Given the description of an element on the screen output the (x, y) to click on. 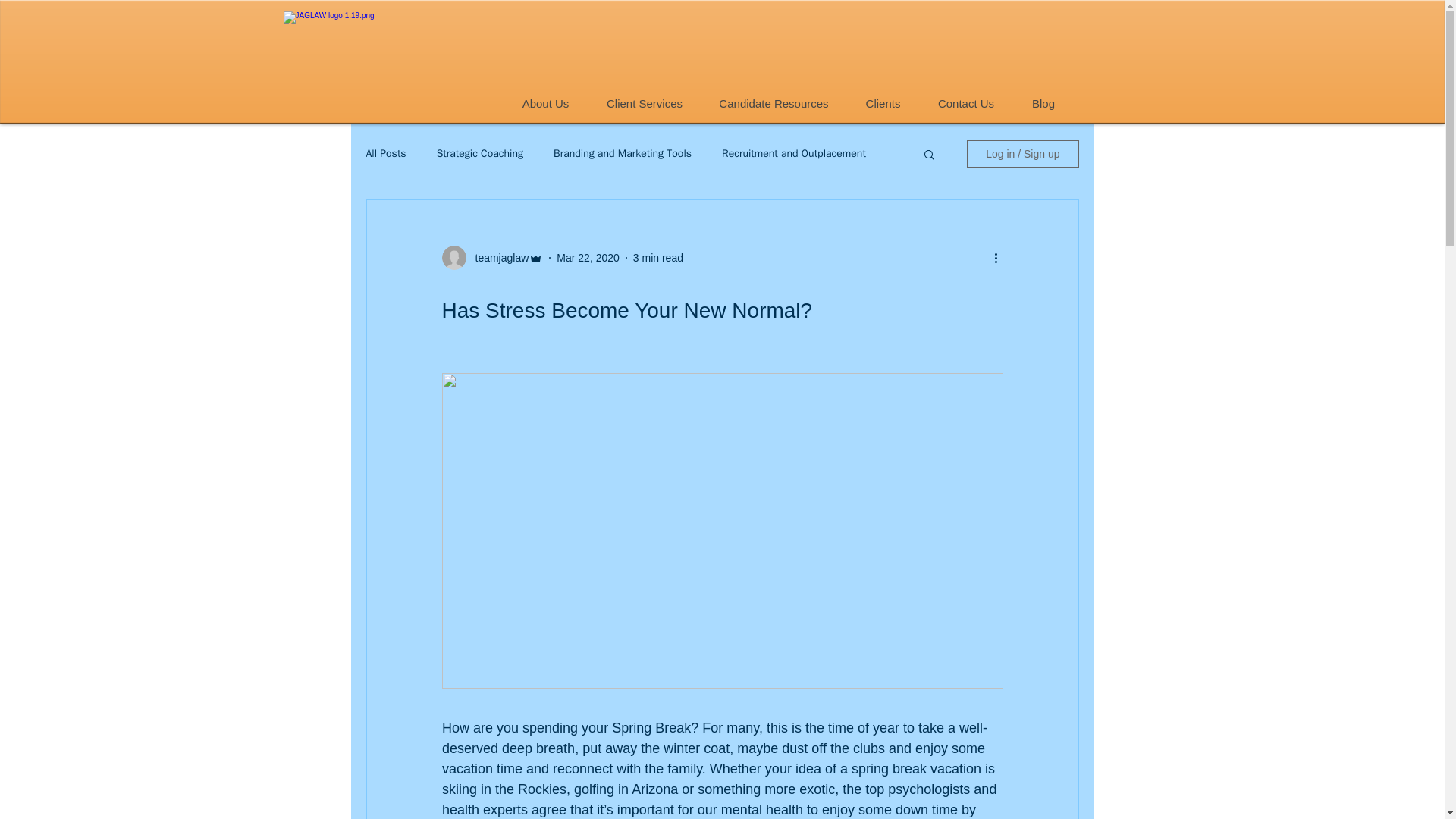
Client Services (644, 103)
About Us (545, 103)
3 min read (657, 257)
Blog (1043, 103)
Contact Us (965, 103)
Candidate Resources (773, 103)
teamjaglaw (496, 258)
Mar 22, 2020 (588, 257)
Clients (881, 103)
